Given the description of an element on the screen output the (x, y) to click on. 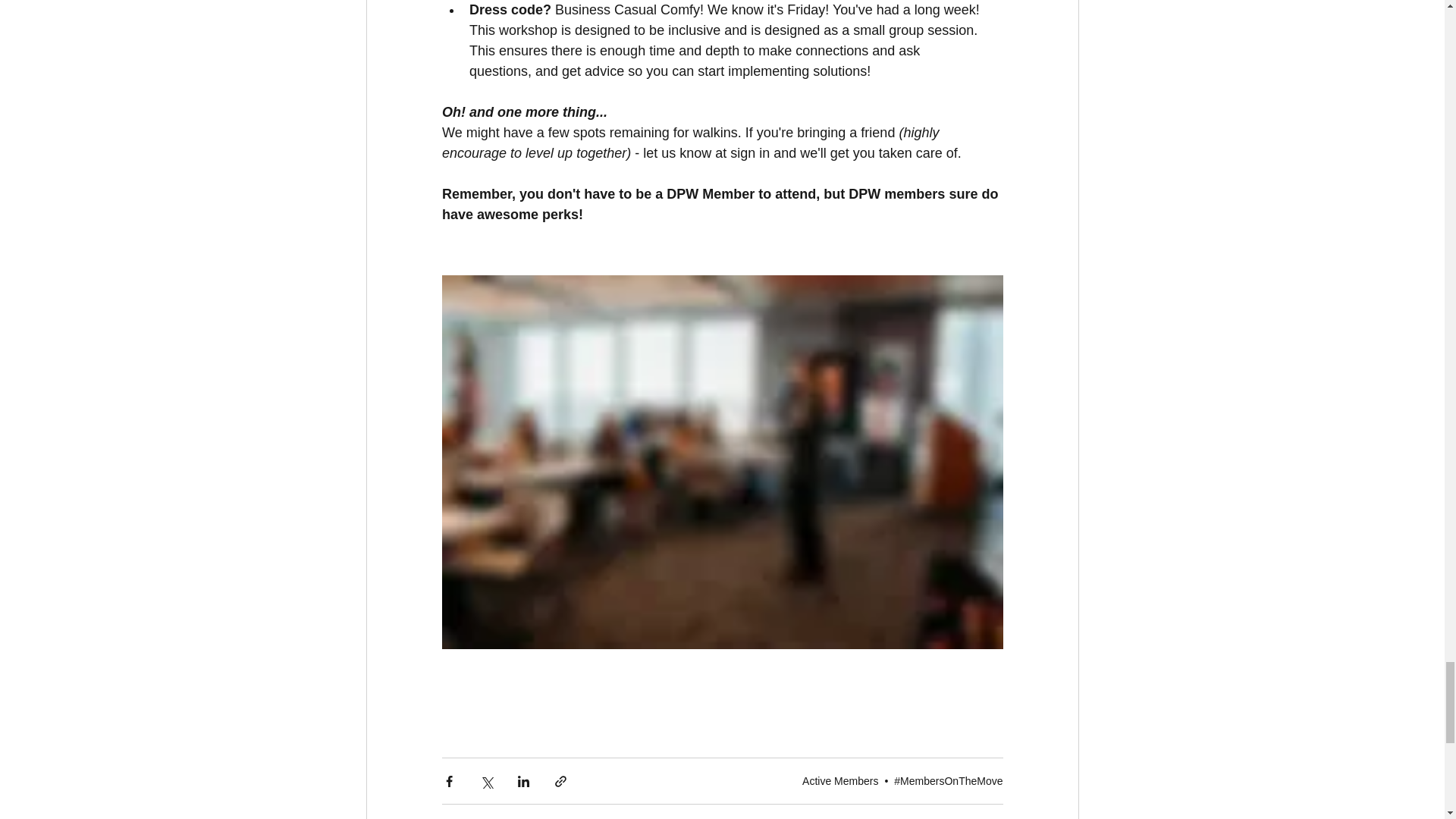
Active Members (839, 780)
